Given the description of an element on the screen output the (x, y) to click on. 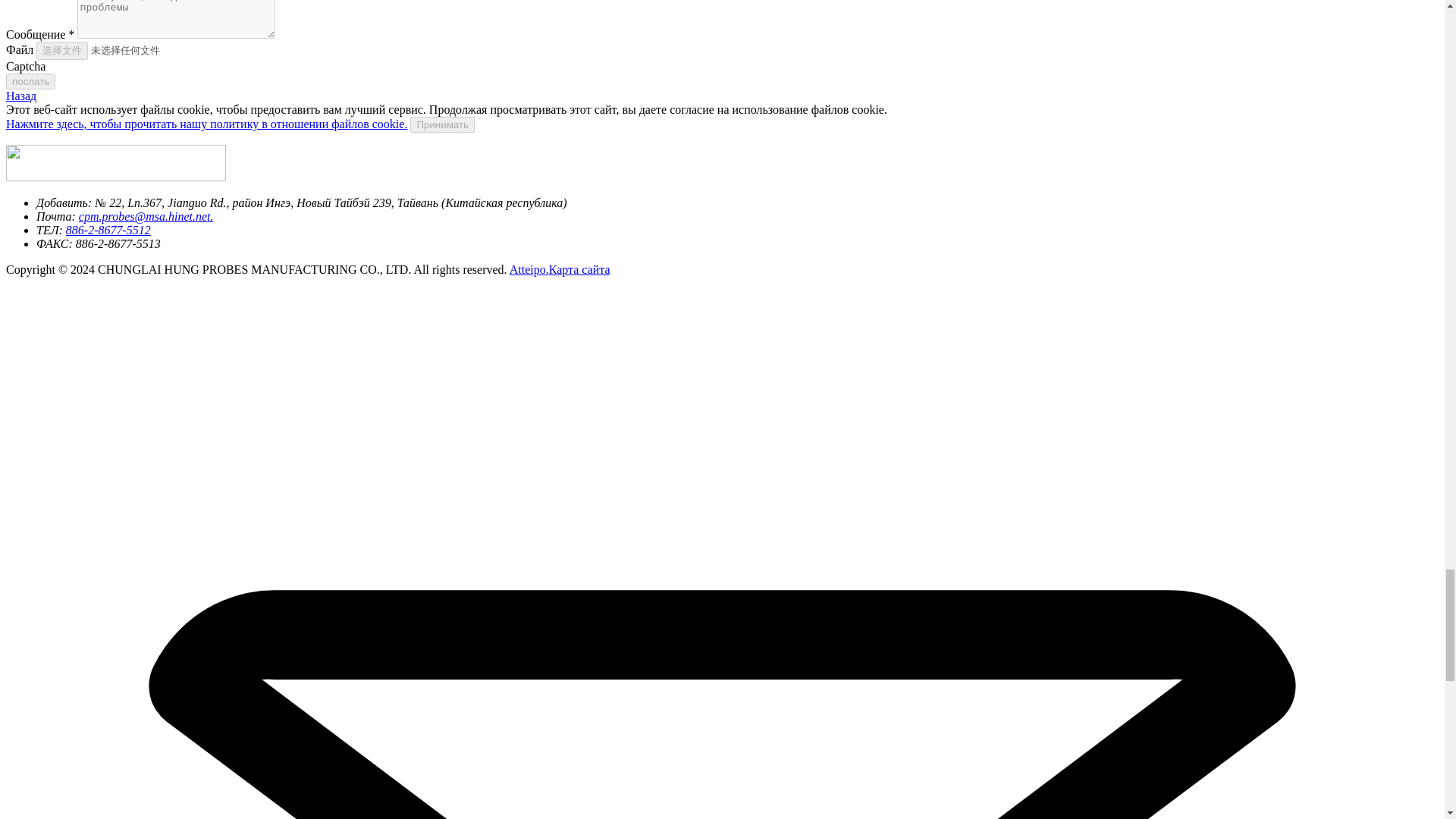
886-2-8677-5512 (108, 229)
Atteipo. (528, 269)
